Given the description of an element on the screen output the (x, y) to click on. 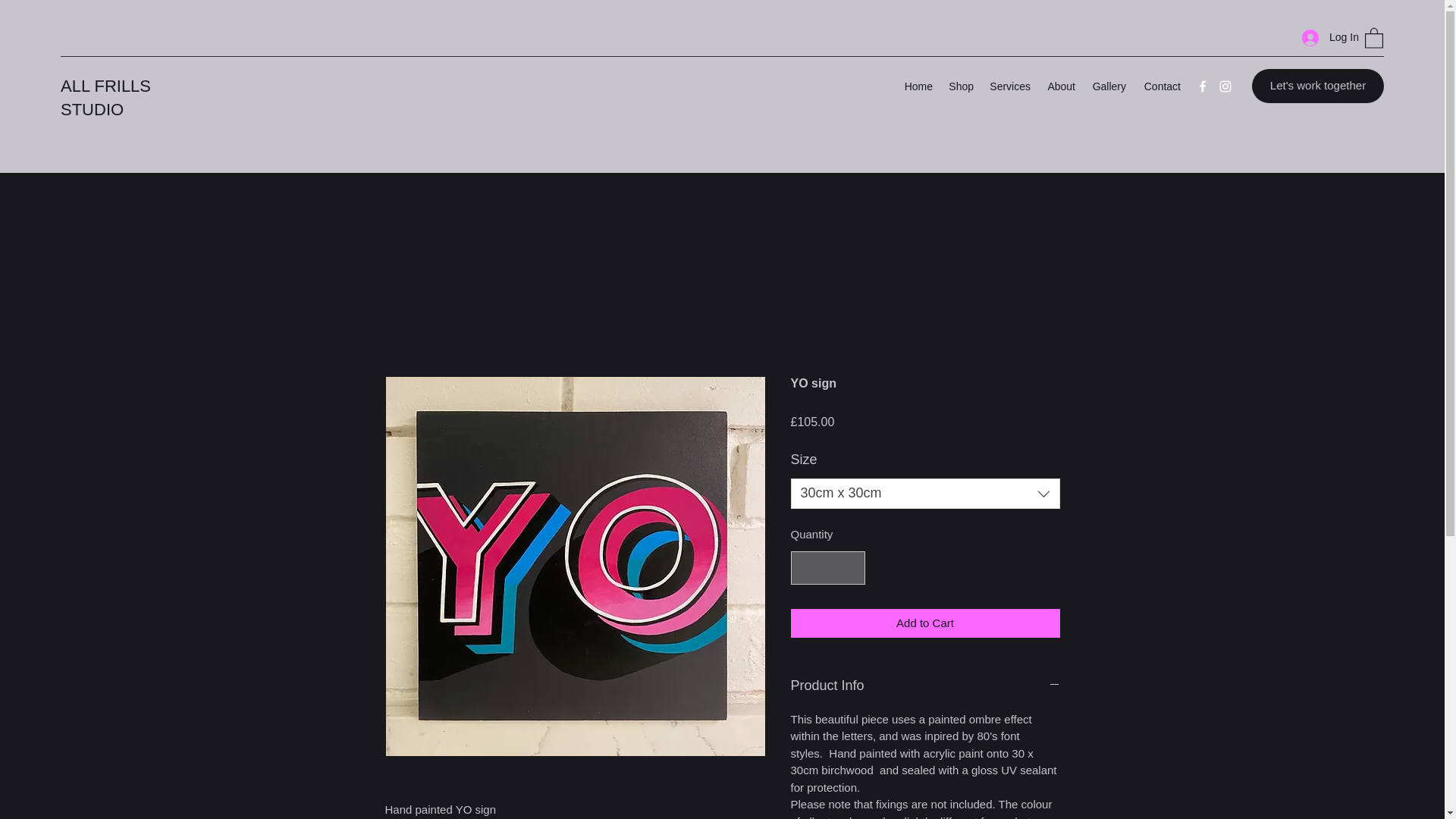
Home (917, 86)
Product Info (924, 686)
30cm x 30cm (924, 493)
Contact (1161, 86)
About (1060, 86)
1 (827, 567)
Add to Cart (924, 623)
Log In (1325, 37)
Gallery (1108, 86)
Services (1009, 86)
